Given the description of an element on the screen output the (x, y) to click on. 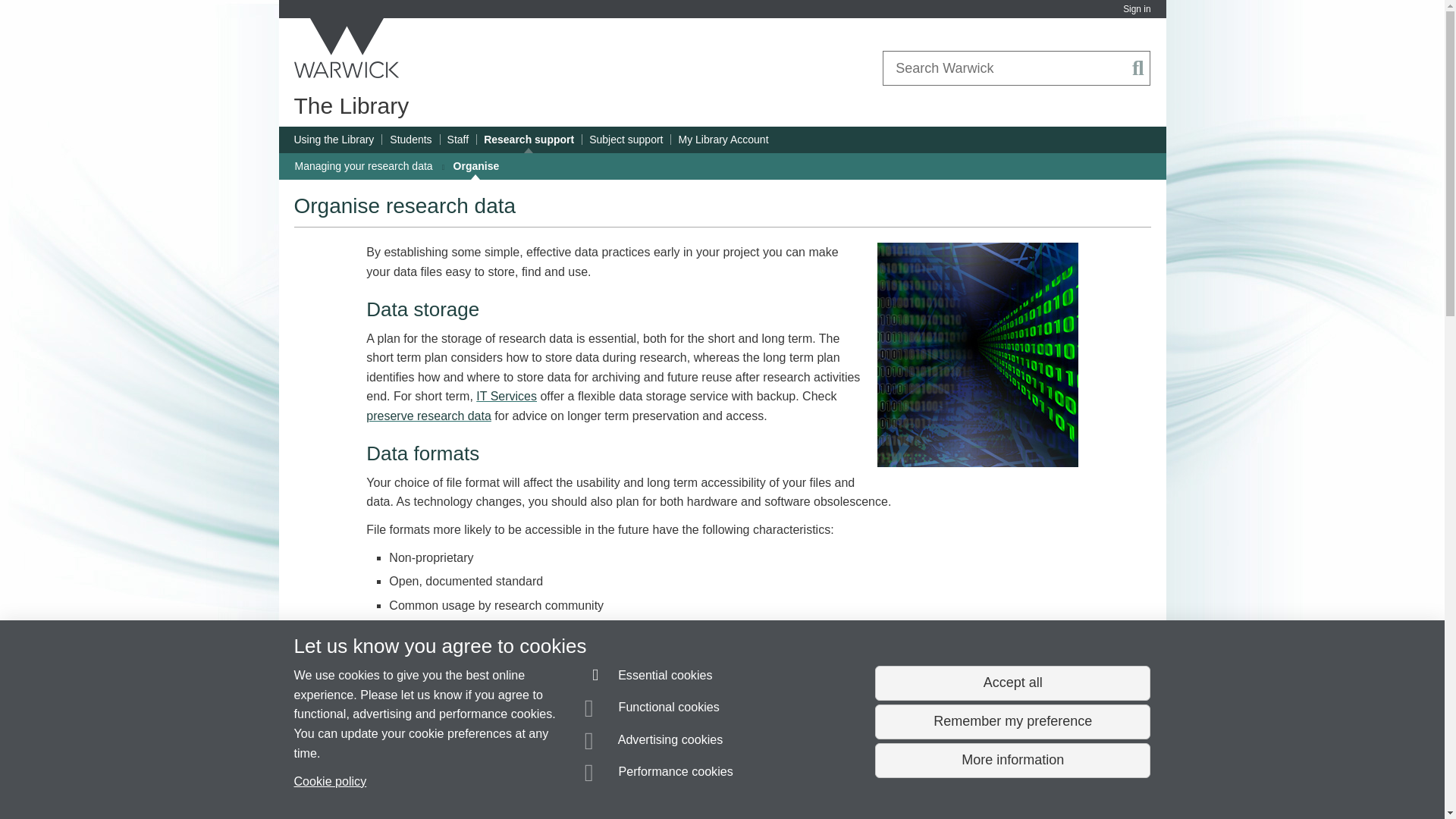
Using the Library (334, 139)
Staff (457, 139)
Students (410, 139)
University of Warwick homepage (346, 48)
Accept all functional, advertising and performance cookies (1012, 683)
Research support (528, 139)
The Library (351, 105)
My Library Account (723, 139)
Subject support (625, 139)
Essential cookies are always on (649, 677)
Sign in (1136, 9)
